Given the description of an element on the screen output the (x, y) to click on. 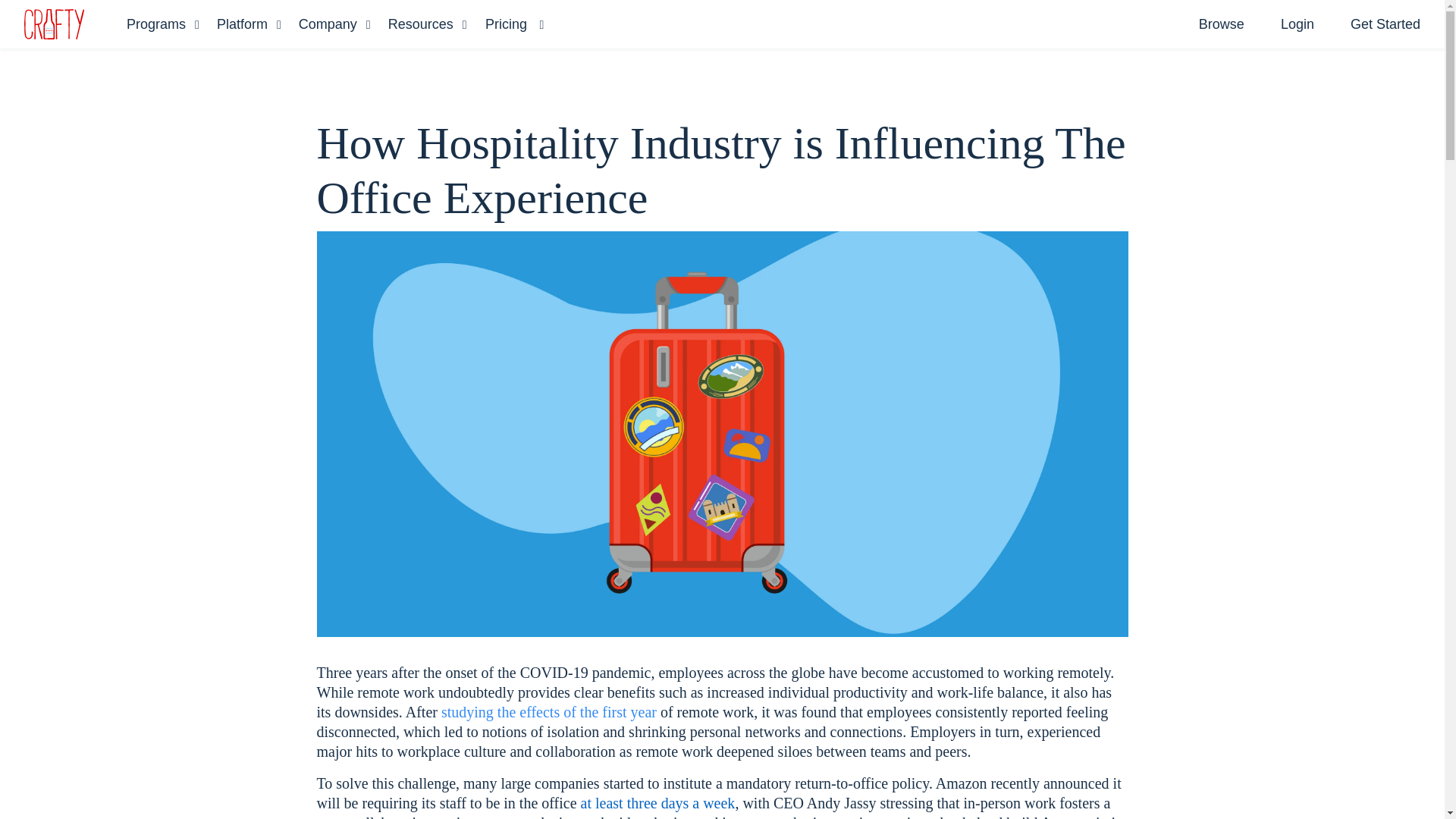
vast.png (54, 24)
Company (334, 24)
Programs (162, 24)
Resources (427, 24)
Platform (248, 24)
